Given the description of an element on the screen output the (x, y) to click on. 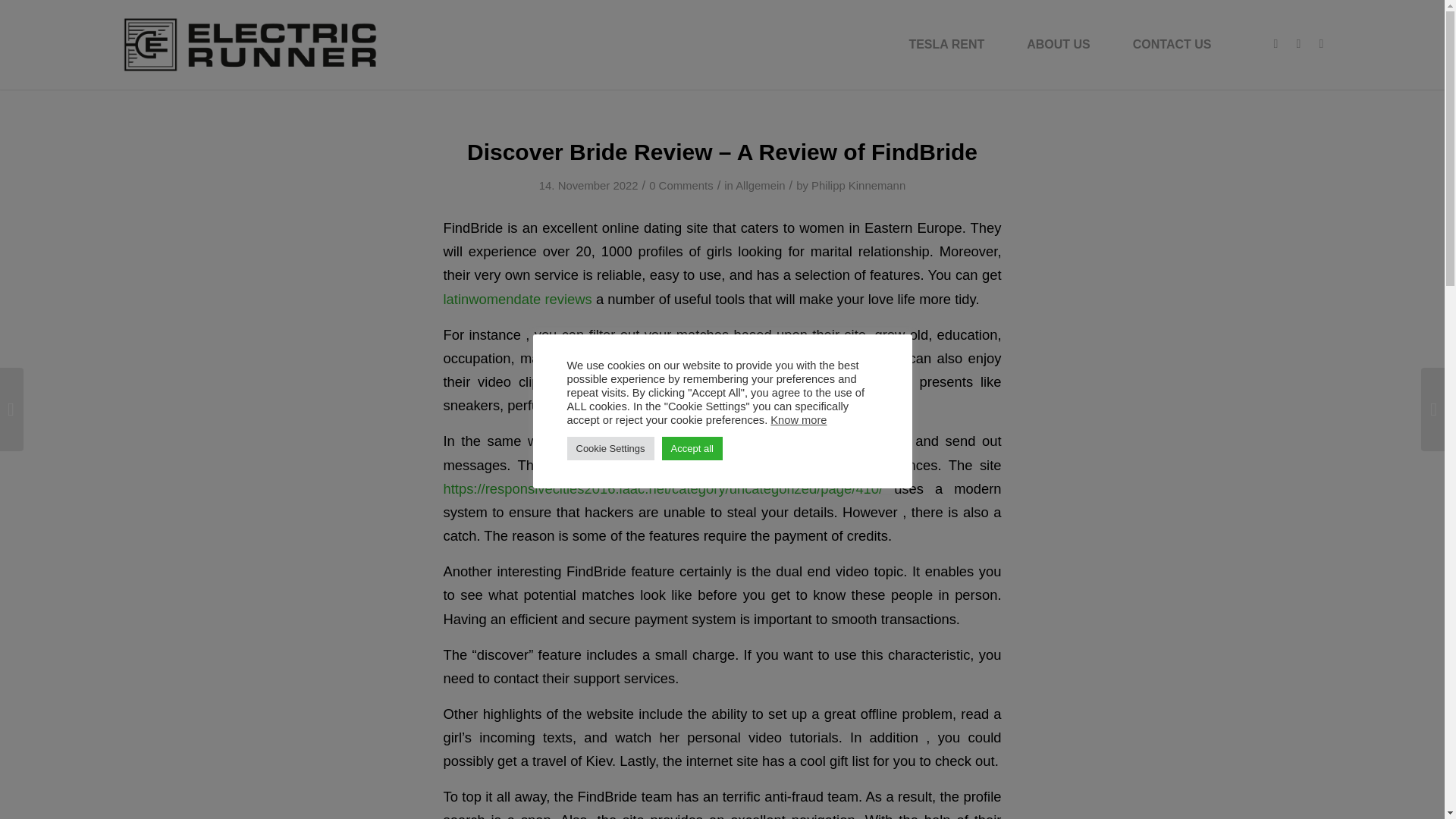
Facebook (1276, 43)
Cookie Settings (610, 448)
TESLA RENT (946, 44)
Posts by Philipp Kinnemann (857, 185)
er-logo-big (250, 44)
CONTACT US (1172, 44)
0 Comments (681, 185)
latinwomendate reviews (516, 299)
Philipp Kinnemann (857, 185)
ABOUT US (1059, 44)
Instagram (1298, 43)
Know more (798, 419)
Allgemein (759, 185)
Accept all (692, 448)
Twitter (1321, 43)
